Given the description of an element on the screen output the (x, y) to click on. 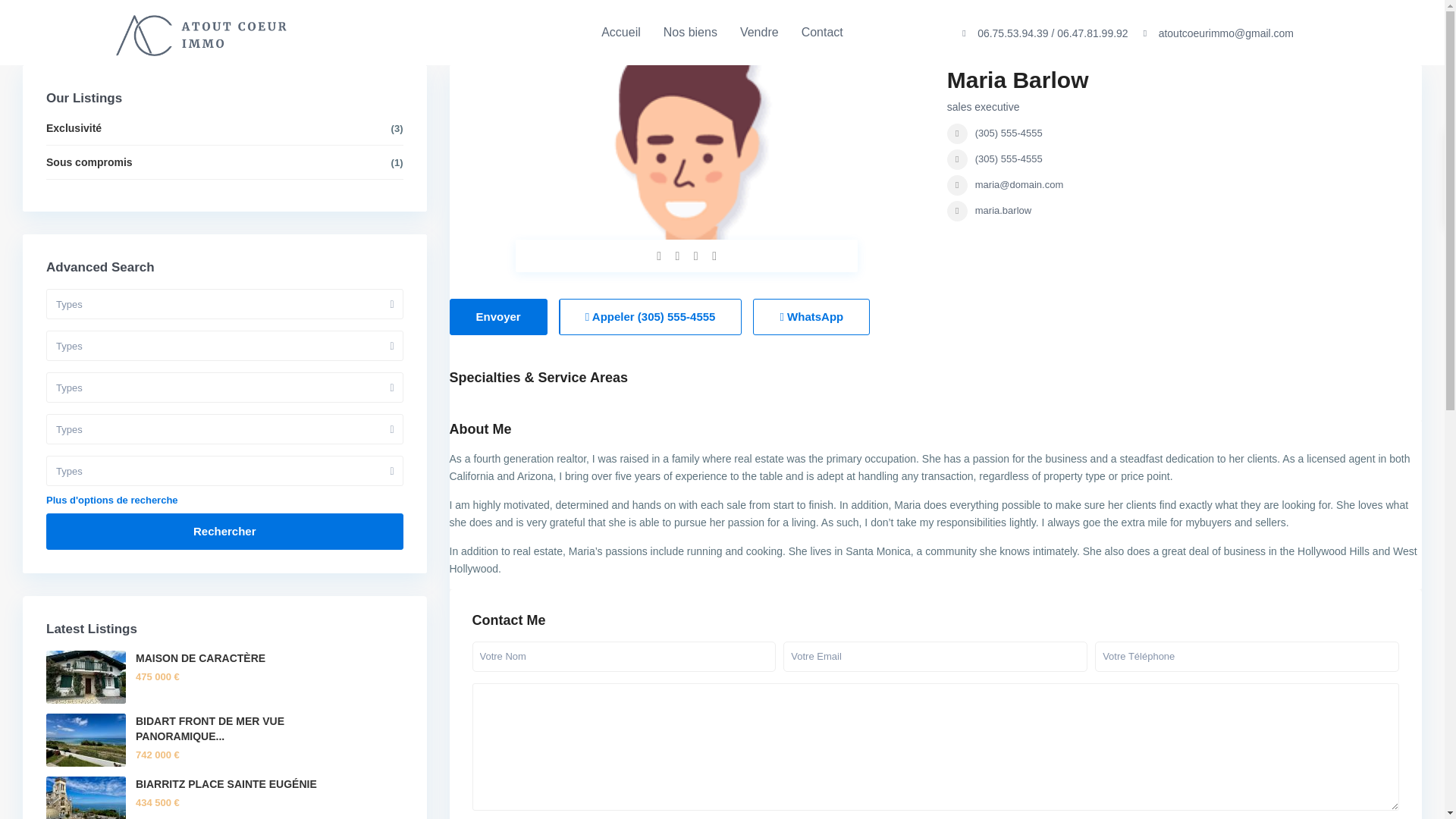
Maria Barlow (1018, 79)
Accueil (620, 32)
Contact (822, 32)
Envoyer (497, 316)
Sous compromis (89, 162)
BIDART FRONT DE MER VUE PANORAMIQUE... (209, 728)
Nos biens (690, 32)
Accueil (620, 32)
Vendre (759, 32)
Rechercher (224, 531)
WhatsApp (810, 316)
